Given the description of an element on the screen output the (x, y) to click on. 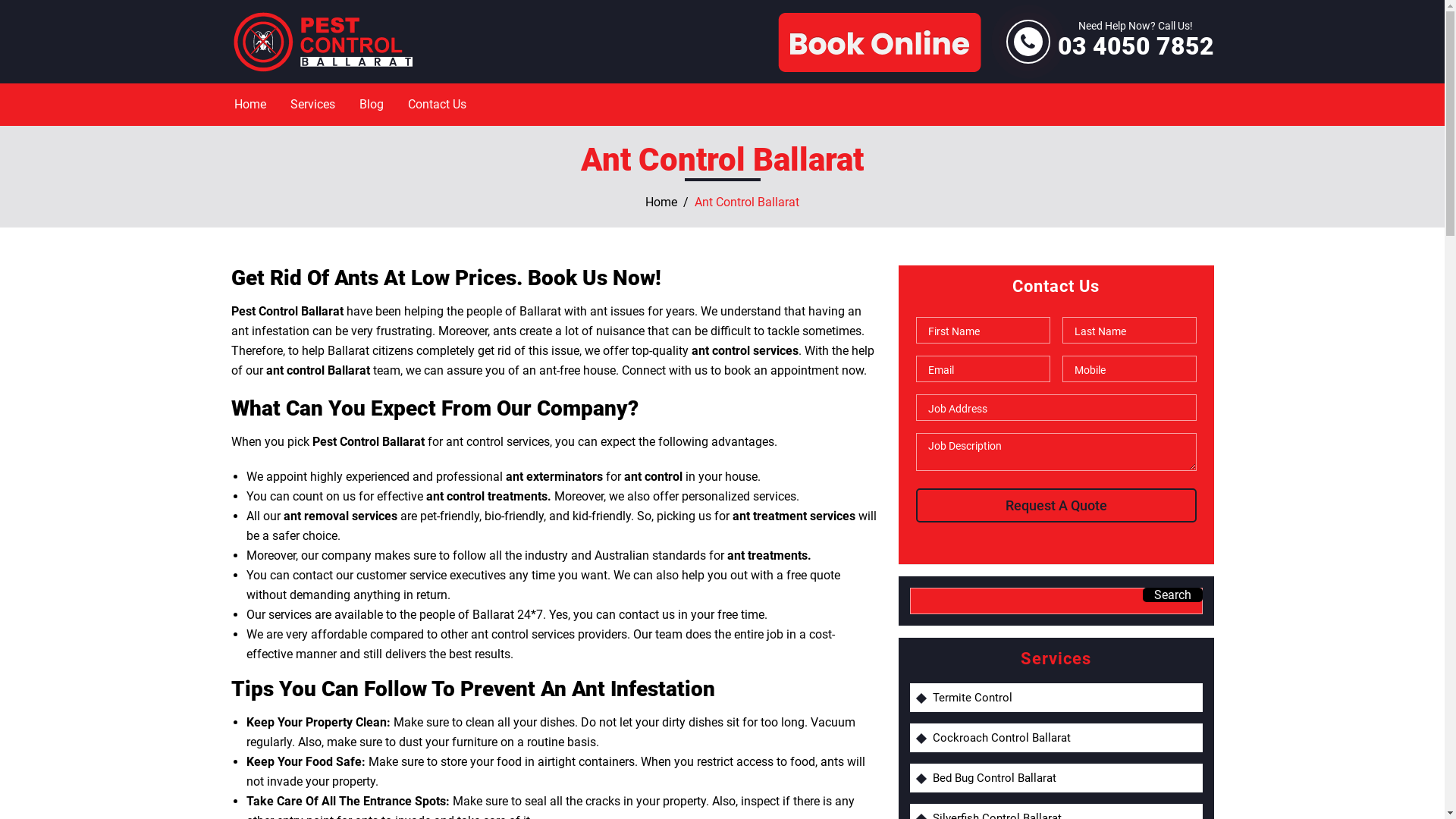
Services Element type: text (312, 104)
Search Element type: text (1171, 594)
Need Help Now? Call Us!
03 4050 7852 Element type: text (1135, 41)
Cockroach Control Ballarat Element type: text (1063, 737)
Contact Us Element type: text (435, 104)
Blog Element type: text (370, 104)
Termite Control Element type: text (1063, 697)
Bed Bug Control Ballarat Element type: text (1063, 777)
Home Element type: text (249, 104)
Home Element type: text (661, 201)
Request A Quote Element type: text (1056, 505)
